Given the description of an element on the screen output the (x, y) to click on. 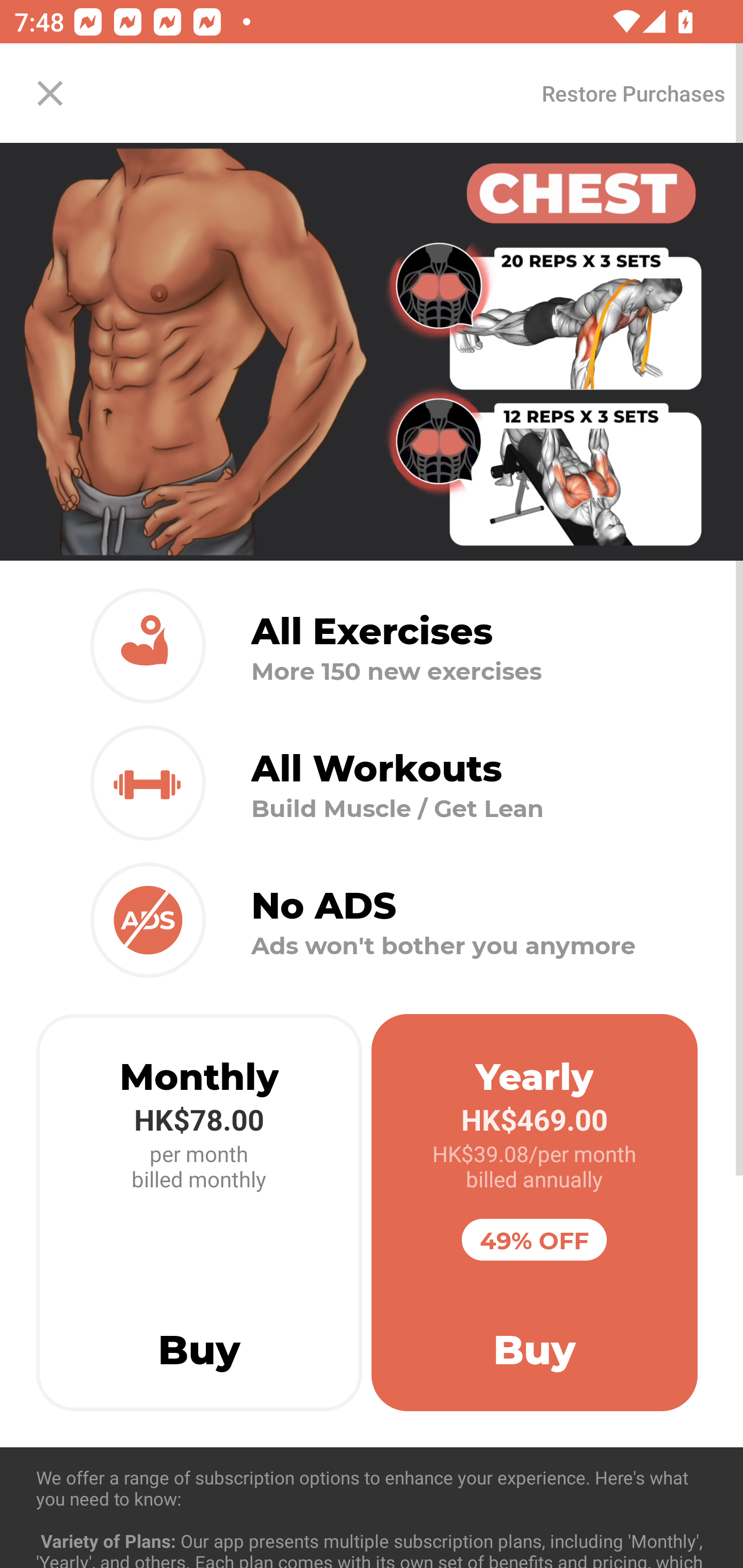
Restore Purchases (632, 92)
Monthly HK$78.00 per month
billed monthly Buy (199, 1212)
